Given the description of an element on the screen output the (x, y) to click on. 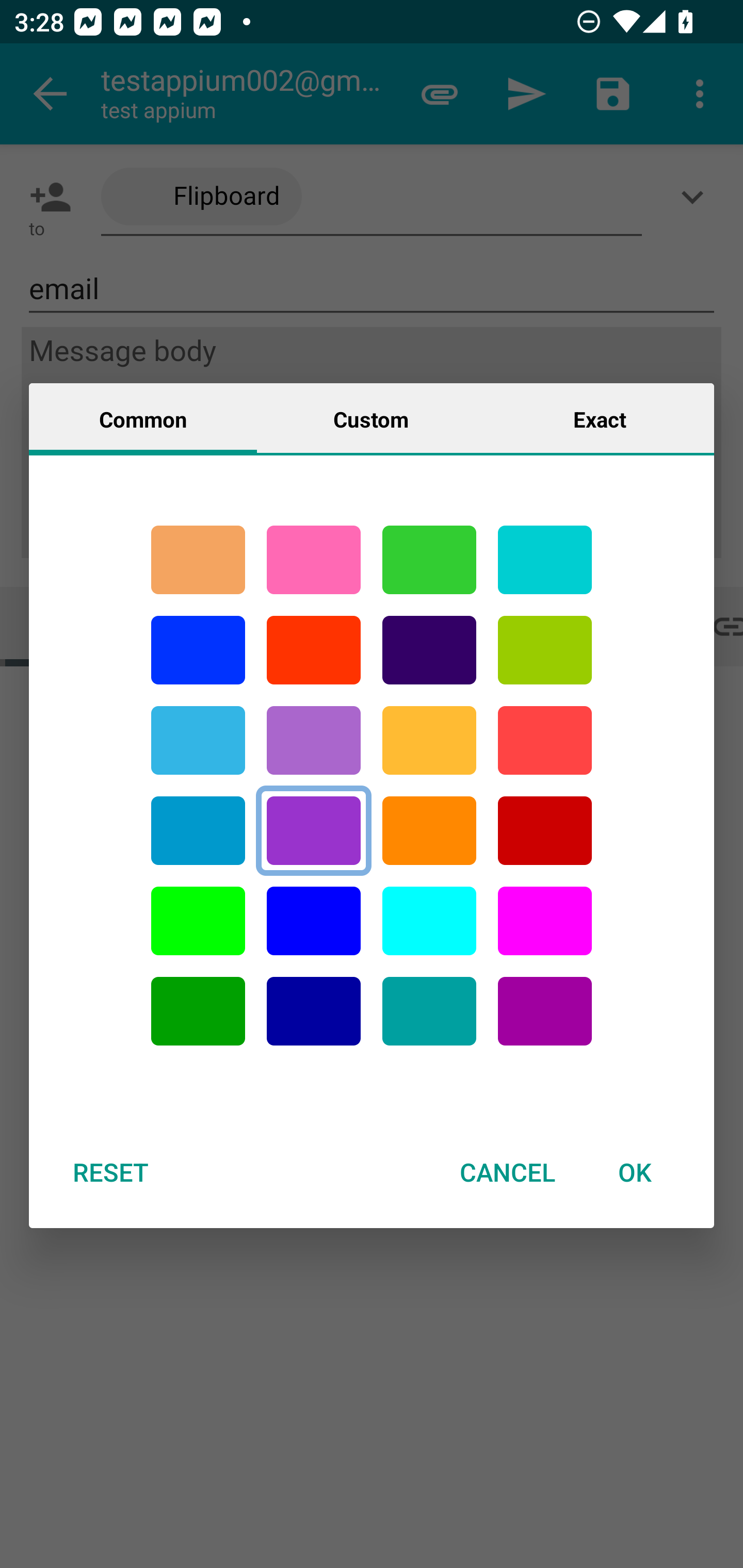
Common (142, 418)
Custom (371, 418)
Exact (599, 418)
Peach (197, 559)
Pink (313, 559)
Green (429, 559)
Cyan (544, 559)
Blue (197, 649)
Red (313, 649)
Dark purple (429, 649)
Light green (544, 649)
Cyan (197, 739)
Purple (313, 739)
Light orange (429, 739)
Light red (544, 739)
Dark cyan (197, 830)
Purple (313, 830)
Orange (429, 830)
Dark red (544, 830)
Light green (197, 920)
Blue (313, 920)
Light cyan (429, 920)
Light purple (544, 920)
Dark green (197, 1010)
Dark blue (313, 1010)
Cyan (429, 1010)
Purple (544, 1010)
RESET (110, 1171)
CANCEL (507, 1171)
OK (634, 1171)
